Given the description of an element on the screen output the (x, y) to click on. 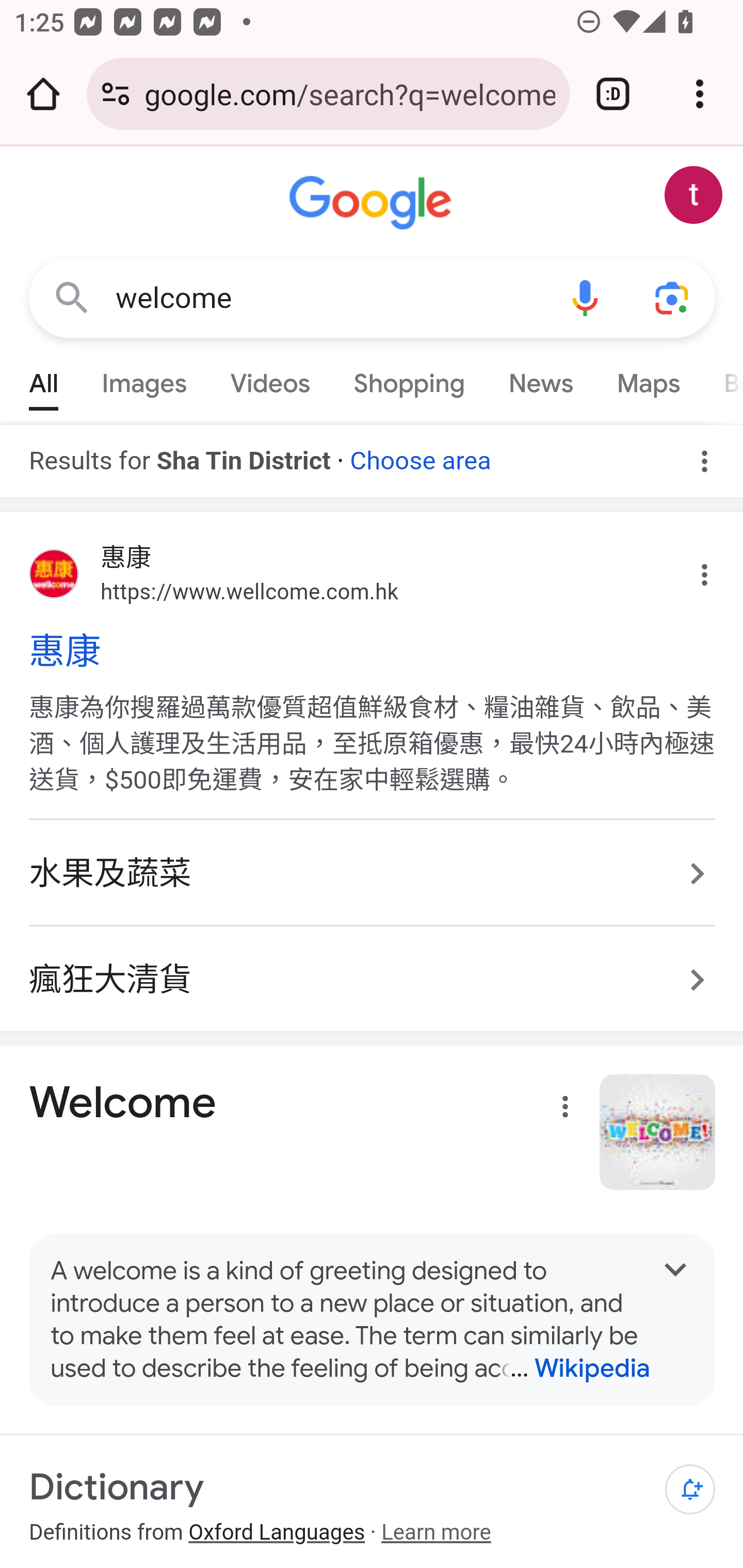
Open the home page (43, 93)
Connection is secure (115, 93)
Switch or close tabs (612, 93)
Customize and control Google Chrome (699, 93)
Google (372, 203)
Google Search (71, 296)
Search using your camera or photos (672, 296)
welcome (328, 297)
Images (144, 378)
Videos (270, 378)
Shopping (408, 378)
News (540, 378)
Maps (647, 378)
Choose area (419, 453)
惠康 (372, 651)
水果及蔬菜 (372, 874)
瘋狂大清貨 (372, 970)
Thumbnail image for Welcome (657, 1131)
More options (561, 1109)
Wikipedia (572, 1368)
Get notifications about Word of the day (690, 1489)
Oxford Languages (276, 1532)
Learn more (435, 1532)
